Given the description of an element on the screen output the (x, y) to click on. 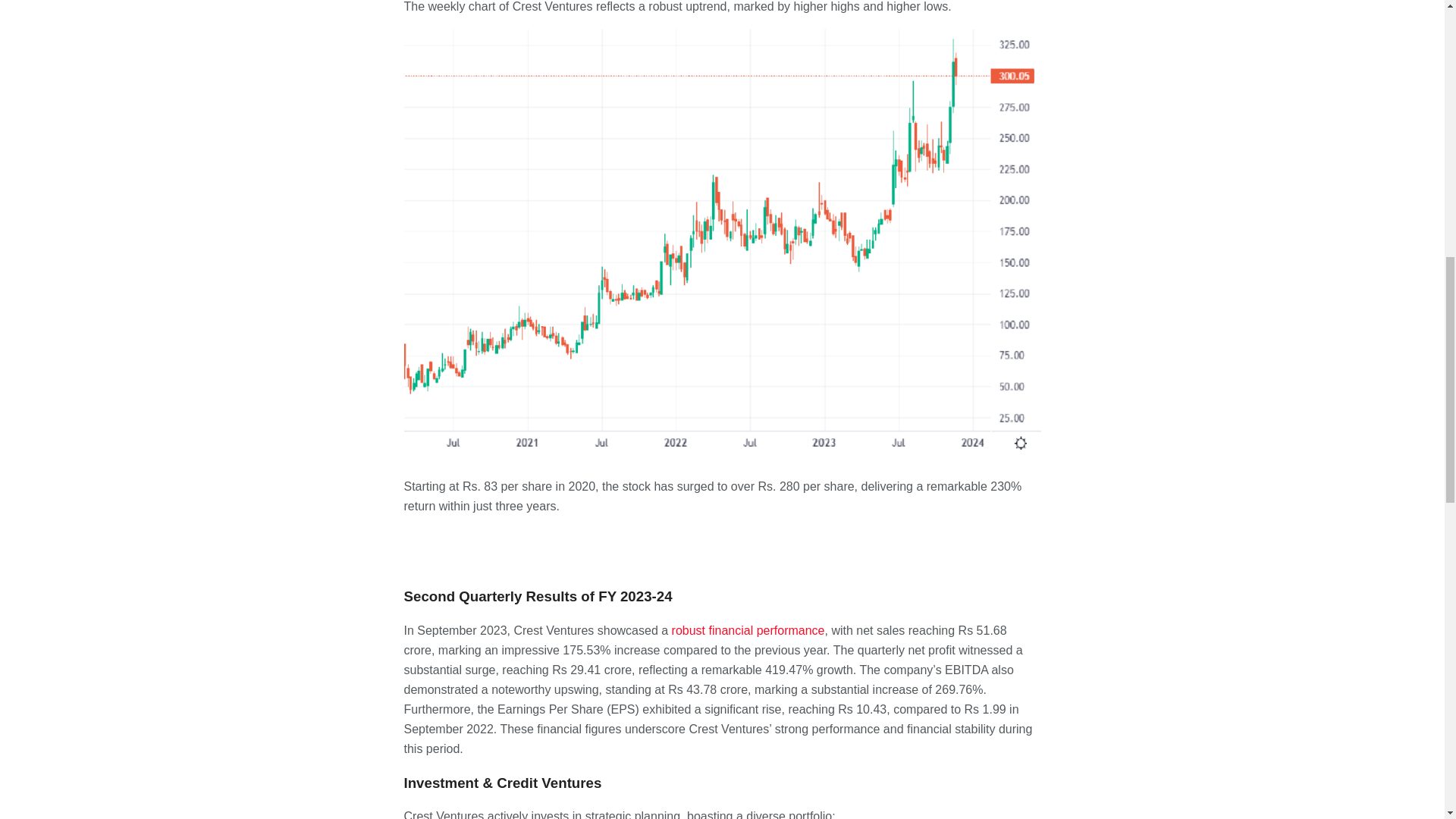
robust financial performance (748, 630)
3rd party ad content (721, 547)
